Given the description of an element on the screen output the (x, y) to click on. 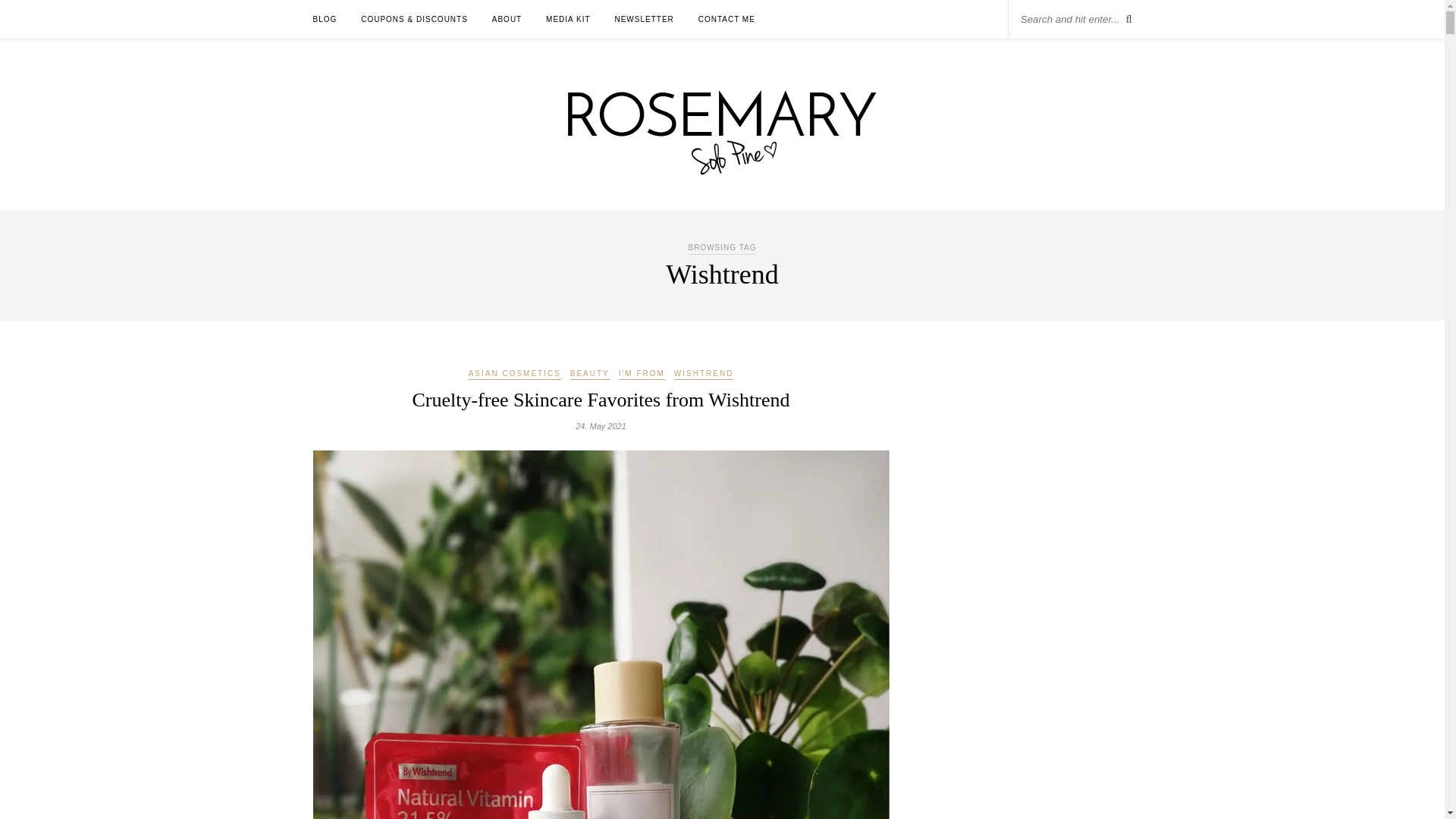
MEDIA KIT (567, 19)
WISHTREND (703, 374)
BEAUTY (590, 374)
CONTACT ME (726, 19)
I'M FROM (641, 374)
View all posts in asian cosmetics (514, 374)
View all posts in beauty (590, 374)
NEWSLETTER (643, 19)
ASIAN COSMETICS (514, 374)
View all posts in Wishtrend (703, 374)
View all posts in I'm from (641, 374)
